Given the description of an element on the screen output the (x, y) to click on. 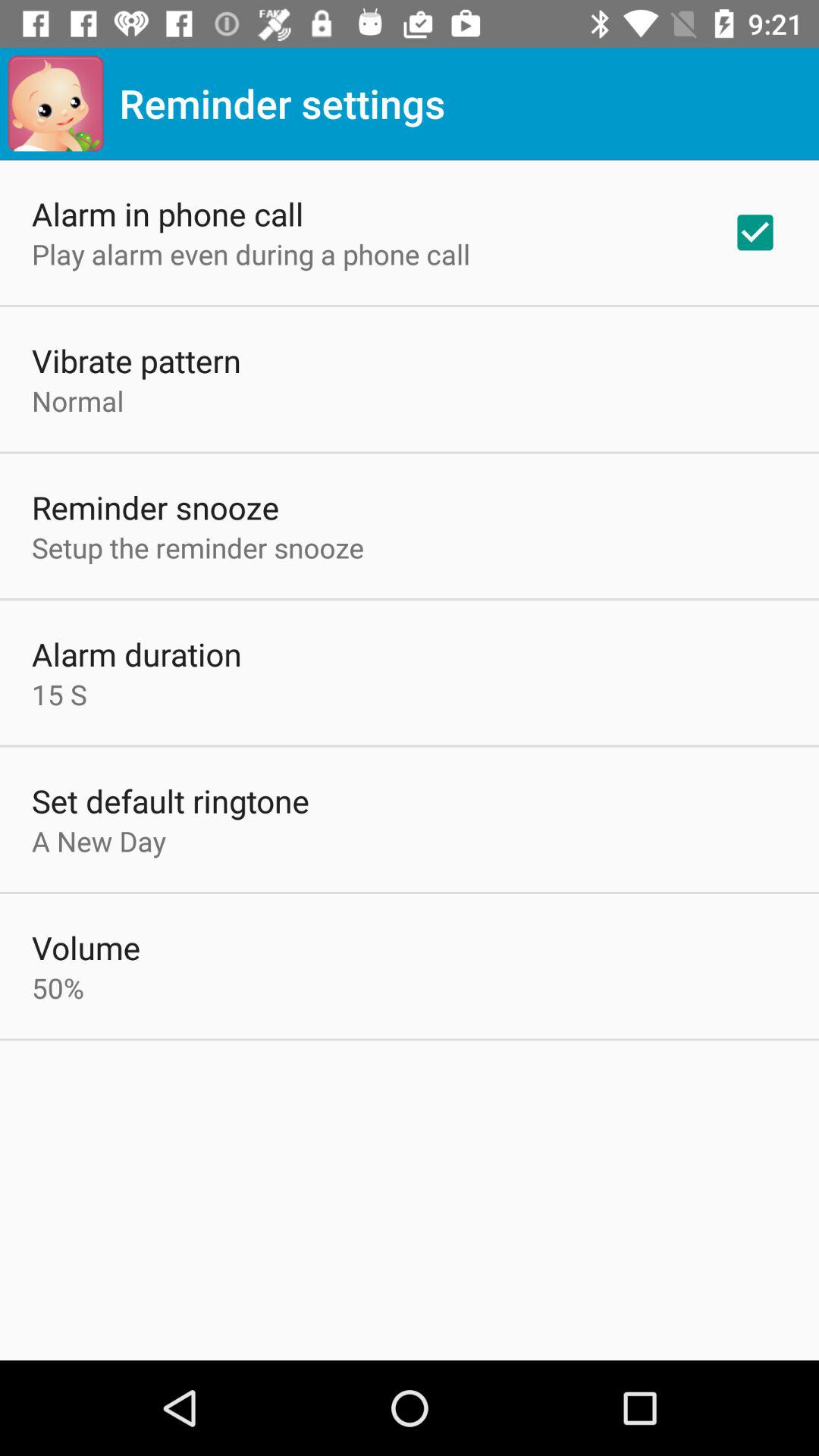
press the icon at the bottom left corner (57, 987)
